Given the description of an element on the screen output the (x, y) to click on. 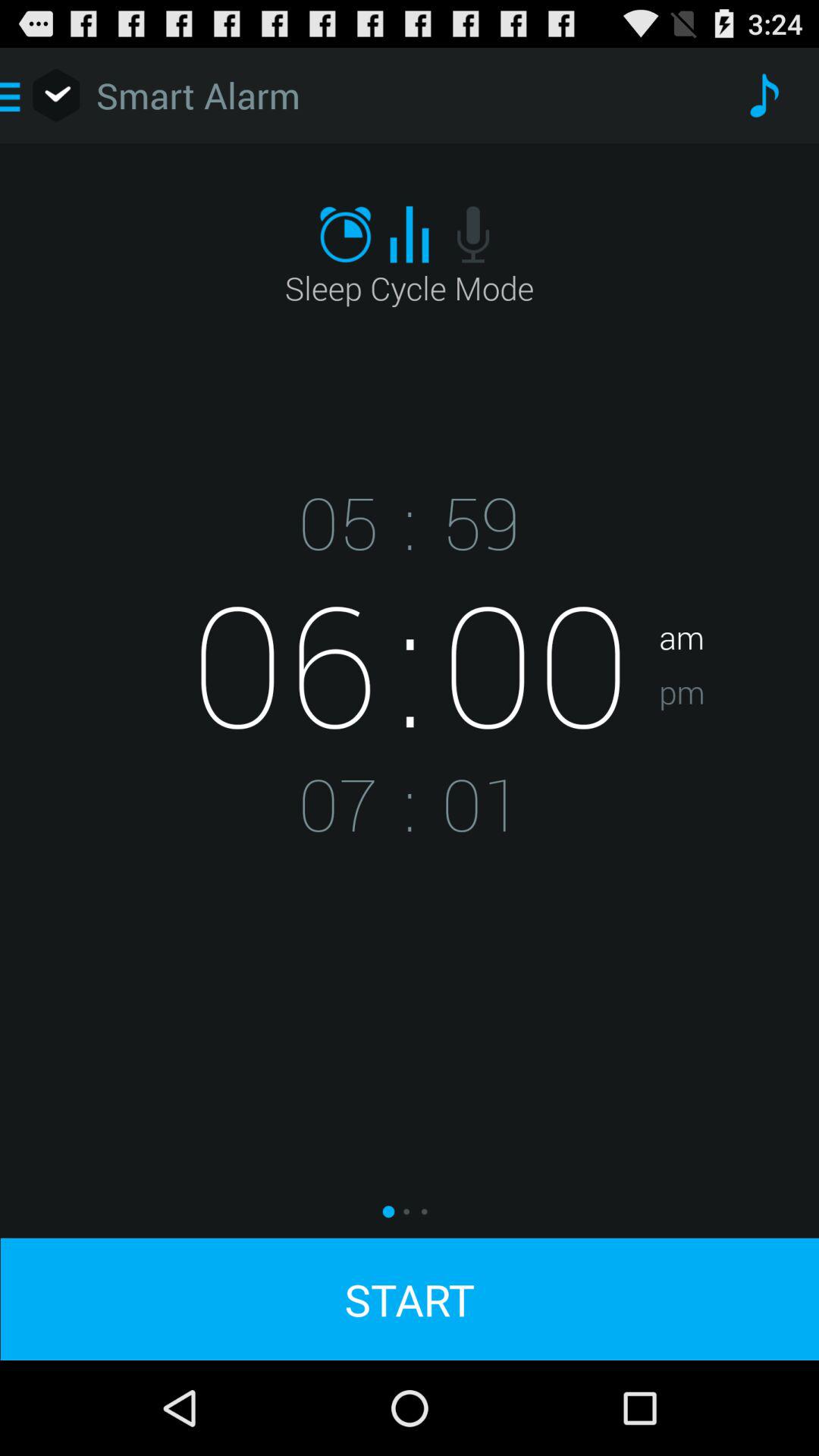
flip until pm (739, 739)
